Given the description of an element on the screen output the (x, y) to click on. 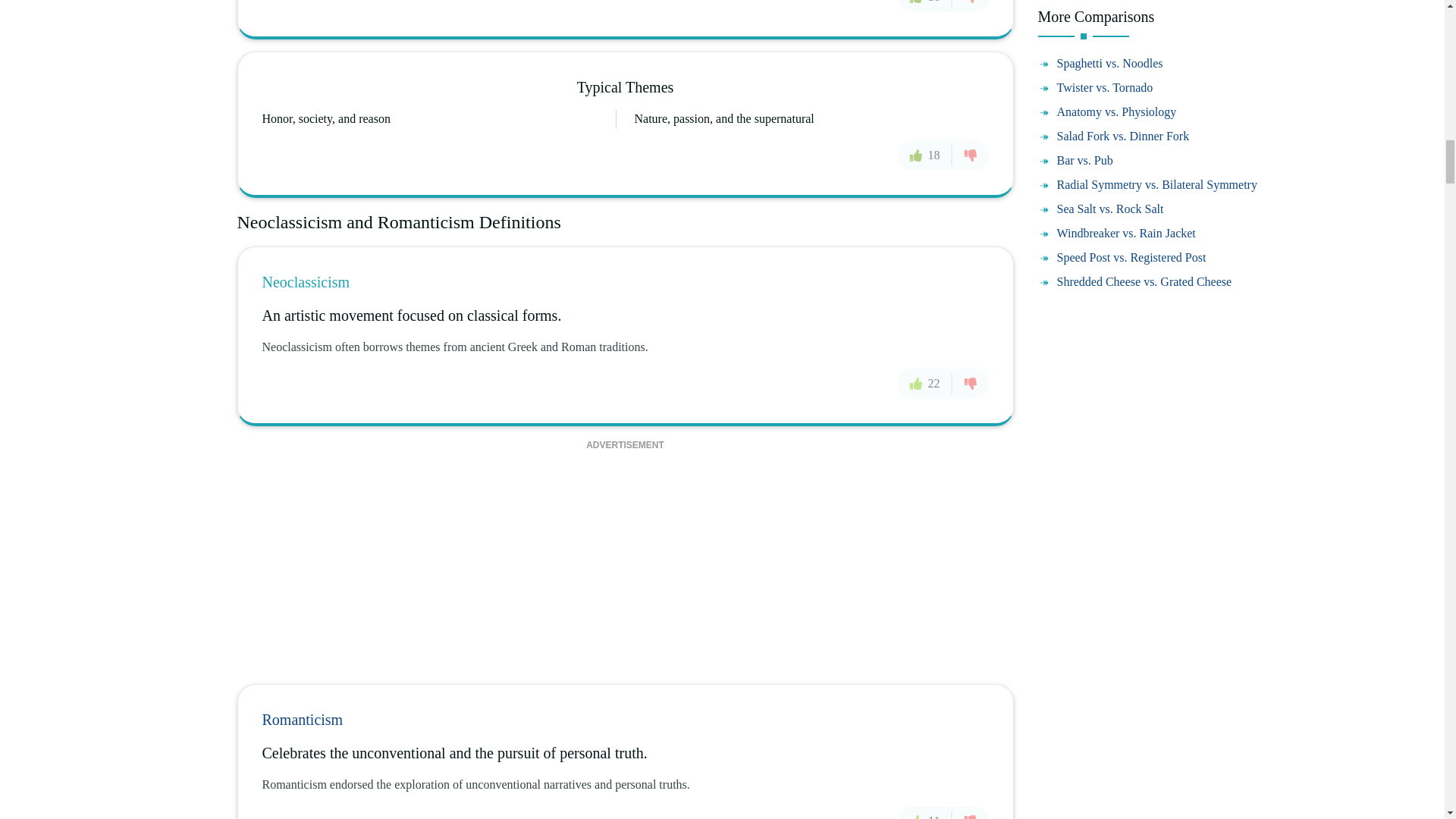
11 (925, 812)
16 (925, 6)
22 (925, 383)
18 (925, 155)
